Given the description of an element on the screen output the (x, y) to click on. 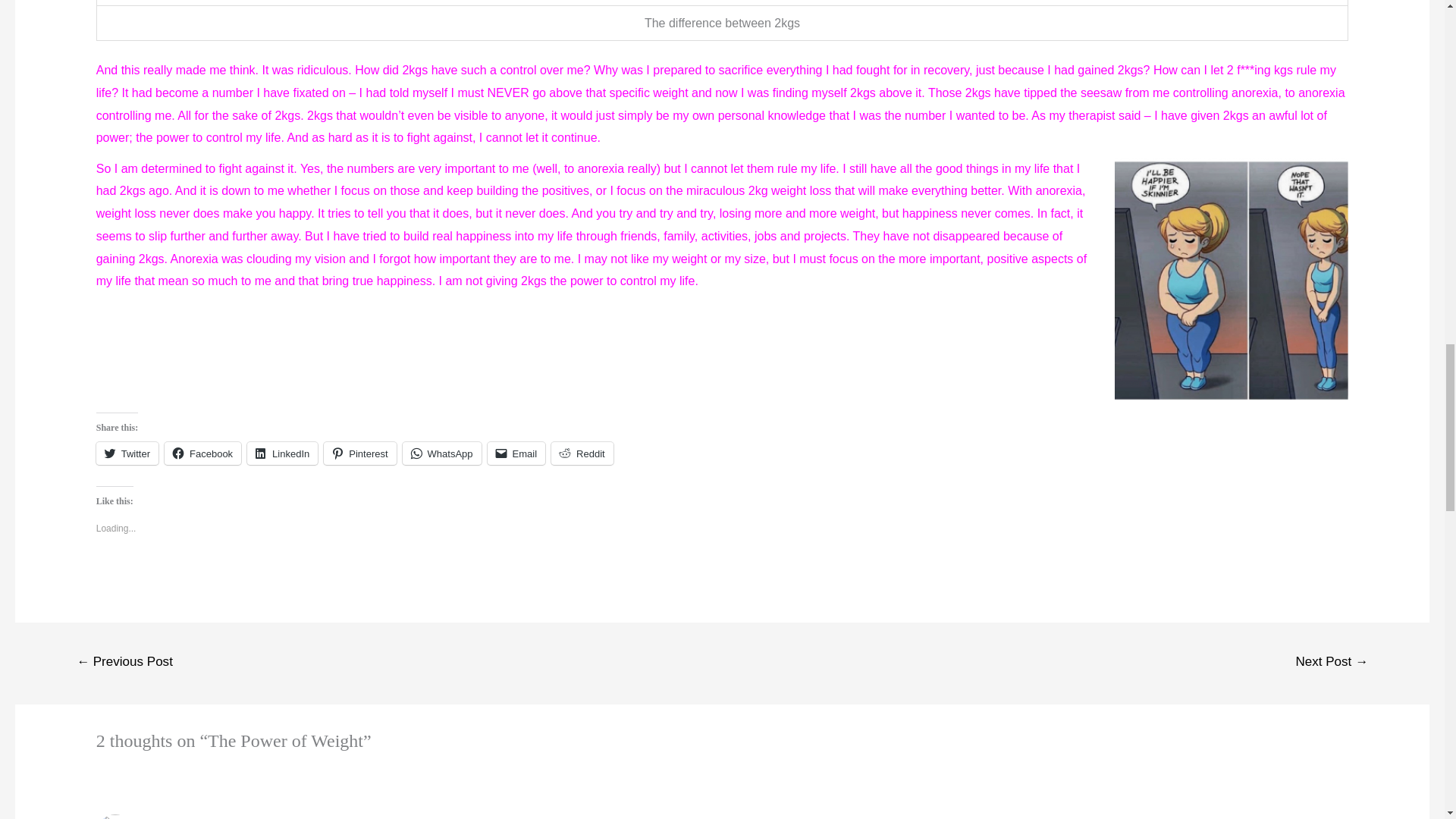
Click to share on WhatsApp (442, 453)
Click to share on Facebook (202, 453)
Pinterest (359, 453)
Twitter (127, 453)
LinkedIn (282, 453)
WhatsApp (442, 453)
Reddit (581, 453)
Click to share on Pinterest (359, 453)
Click to share on LinkedIn (282, 453)
Click to email a link to a friend (516, 453)
